Given the description of an element on the screen output the (x, y) to click on. 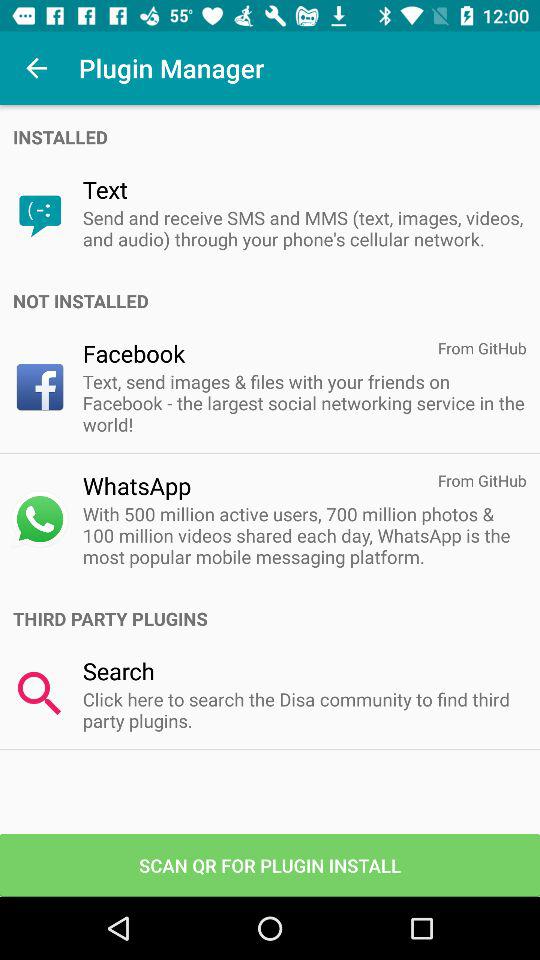
turn on the scan qr for (270, 864)
